Given the description of an element on the screen output the (x, y) to click on. 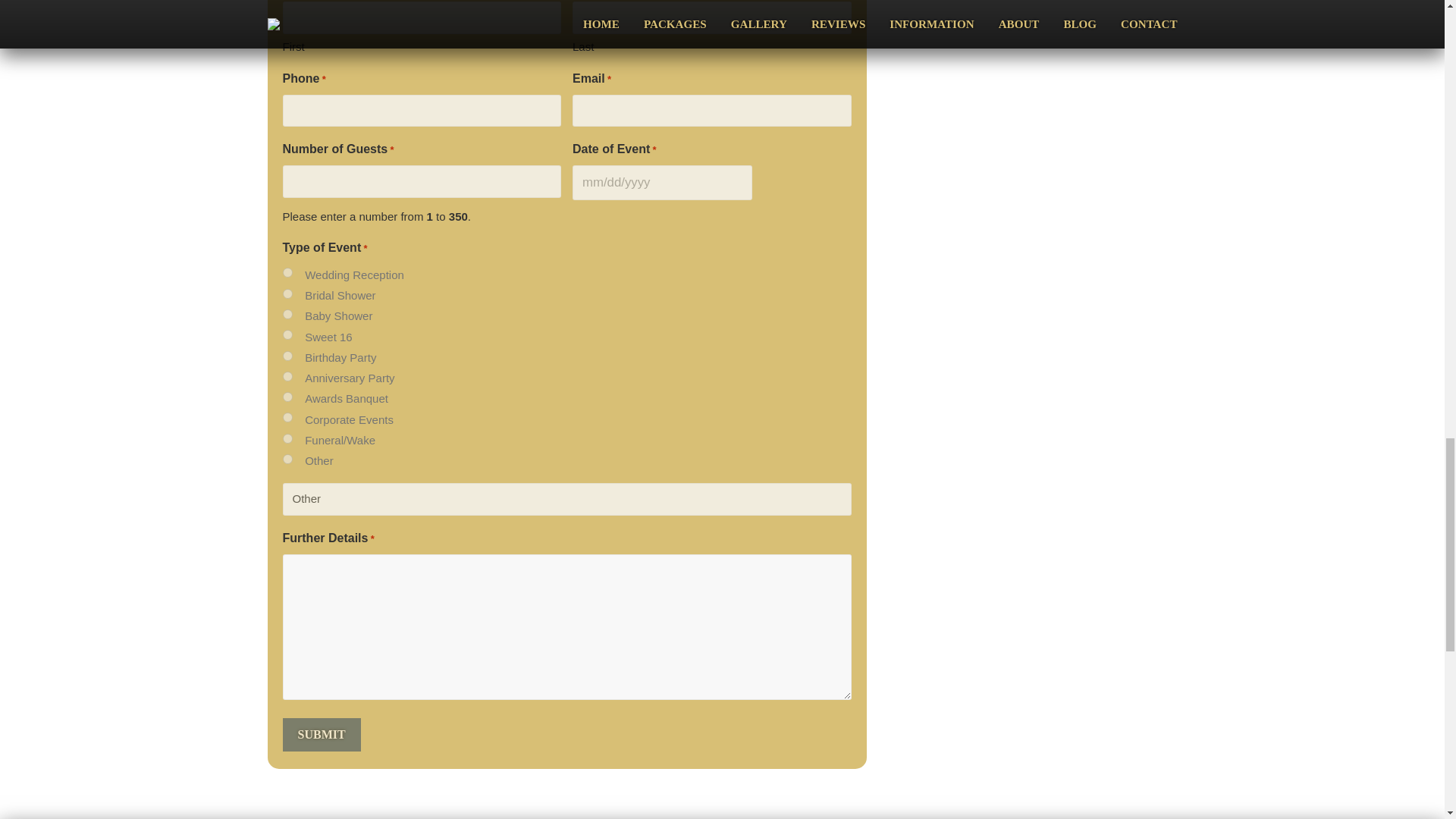
Birthday Party (287, 355)
Baby Shower (287, 314)
Bridal Shower (287, 293)
Anniversary Party (287, 376)
Submit (320, 734)
Awards Banquet (287, 397)
Sweet 16 (287, 334)
Corporate Events (287, 417)
Other (566, 499)
Wedding Reception (287, 272)
